Given the description of an element on the screen output the (x, y) to click on. 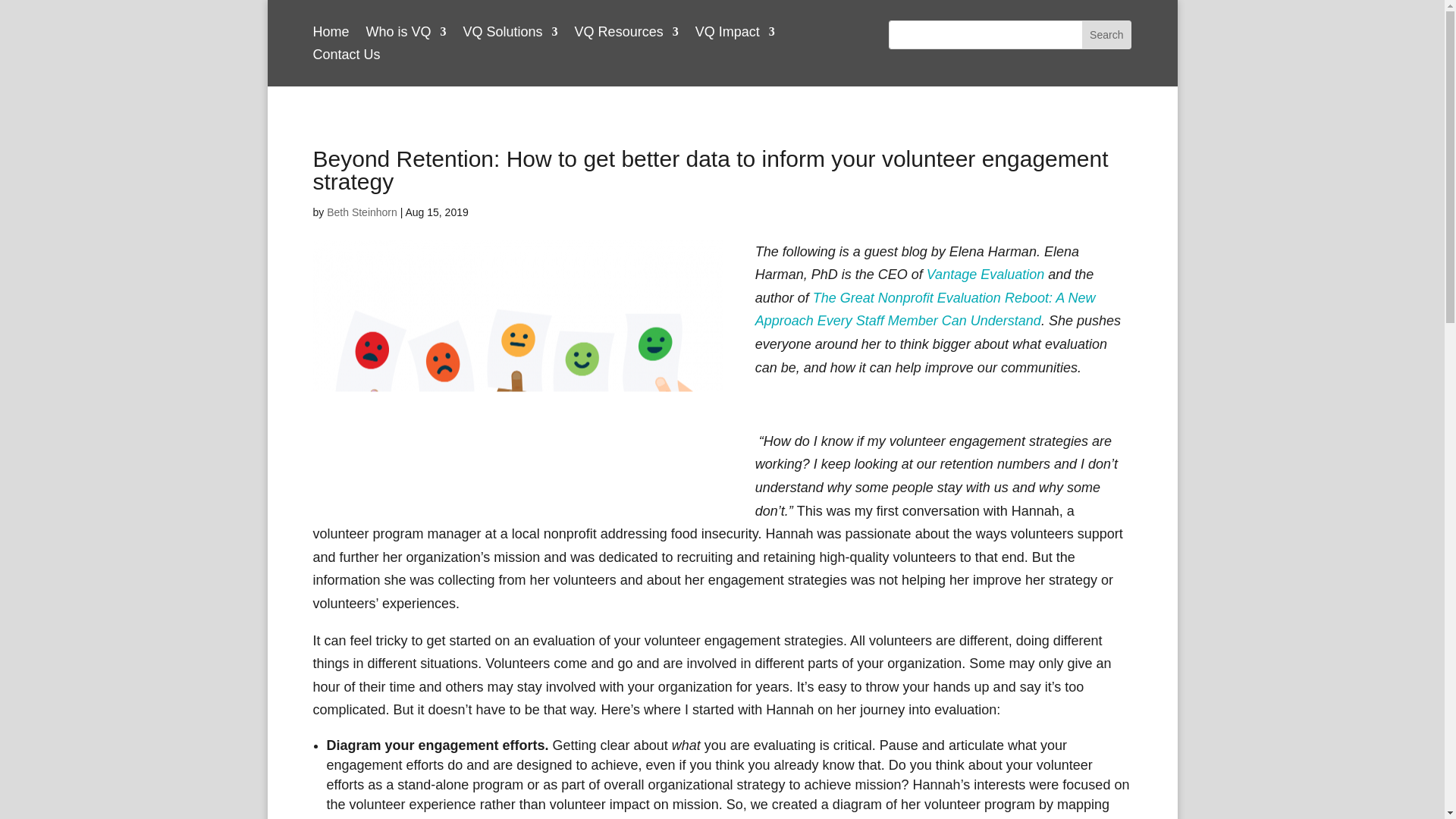
Beth Steinhorn (361, 212)
Search (1106, 34)
Search (1106, 34)
VQ Solutions (510, 34)
VQ Resources (626, 34)
Vantage Evaluation (984, 273)
Home (331, 34)
VQ Impact (734, 34)
Contact Us (346, 57)
